Given the description of an element on the screen output the (x, y) to click on. 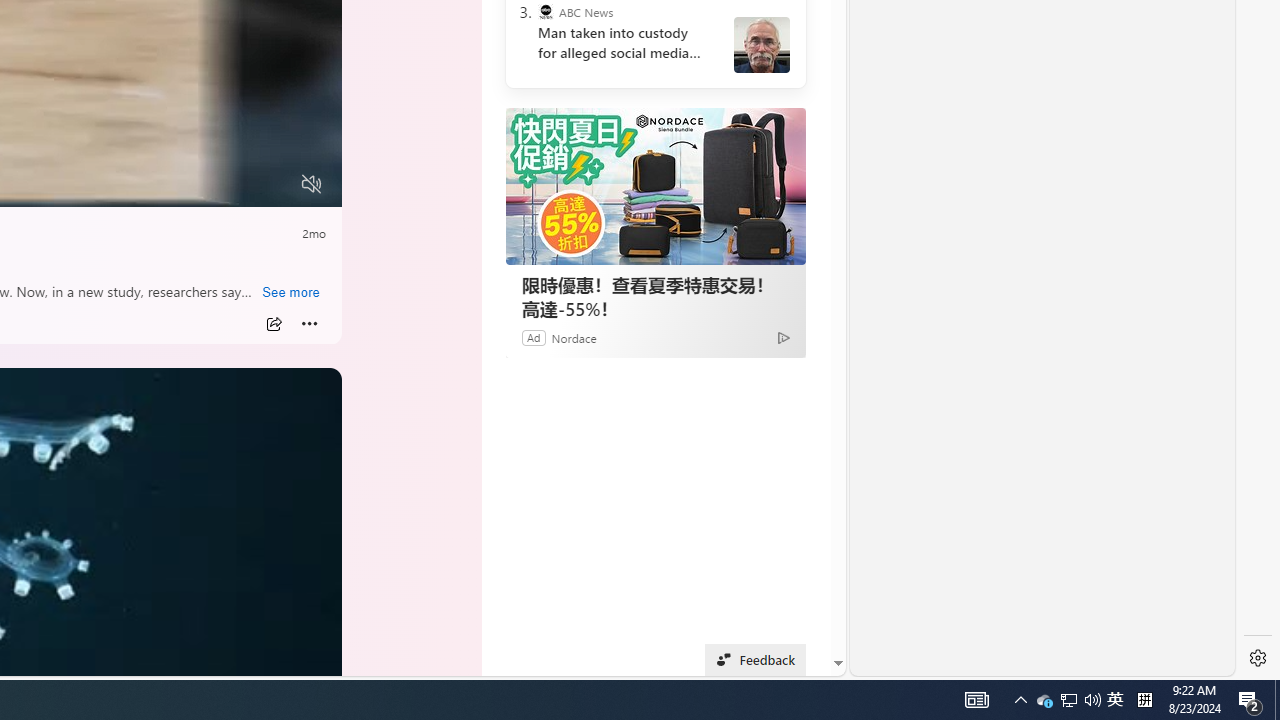
Captions (233, 185)
Unmute (311, 184)
Class: at-item inline-watch (310, 324)
Quality Settings (193, 185)
ABC News (545, 12)
